Given the description of an element on the screen output the (x, y) to click on. 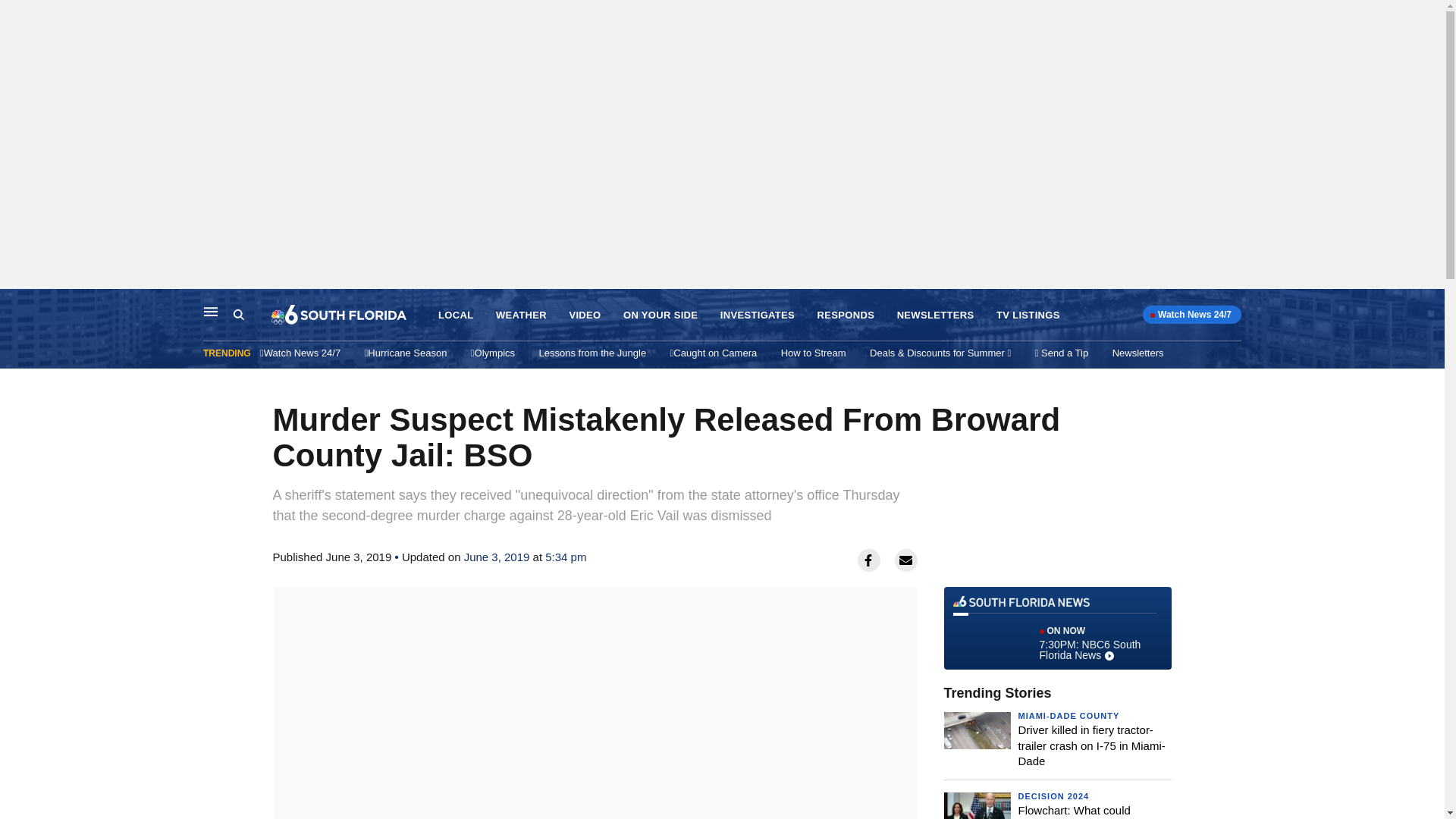
TV LISTINGS (1027, 315)
NEWSLETTERS (1056, 628)
DECISION 2024 (935, 315)
Search (1053, 795)
RESPONDS (238, 314)
Lessons from the Jungle (845, 315)
Flowchart: What could happen if Biden exits the race? (592, 352)
Skip to content (1079, 811)
3rd party ad content (16, 304)
Main Navigation (757, 315)
WEATHER (210, 311)
ON YOUR SIDE (521, 315)
Newsletters (660, 315)
